Given the description of an element on the screen output the (x, y) to click on. 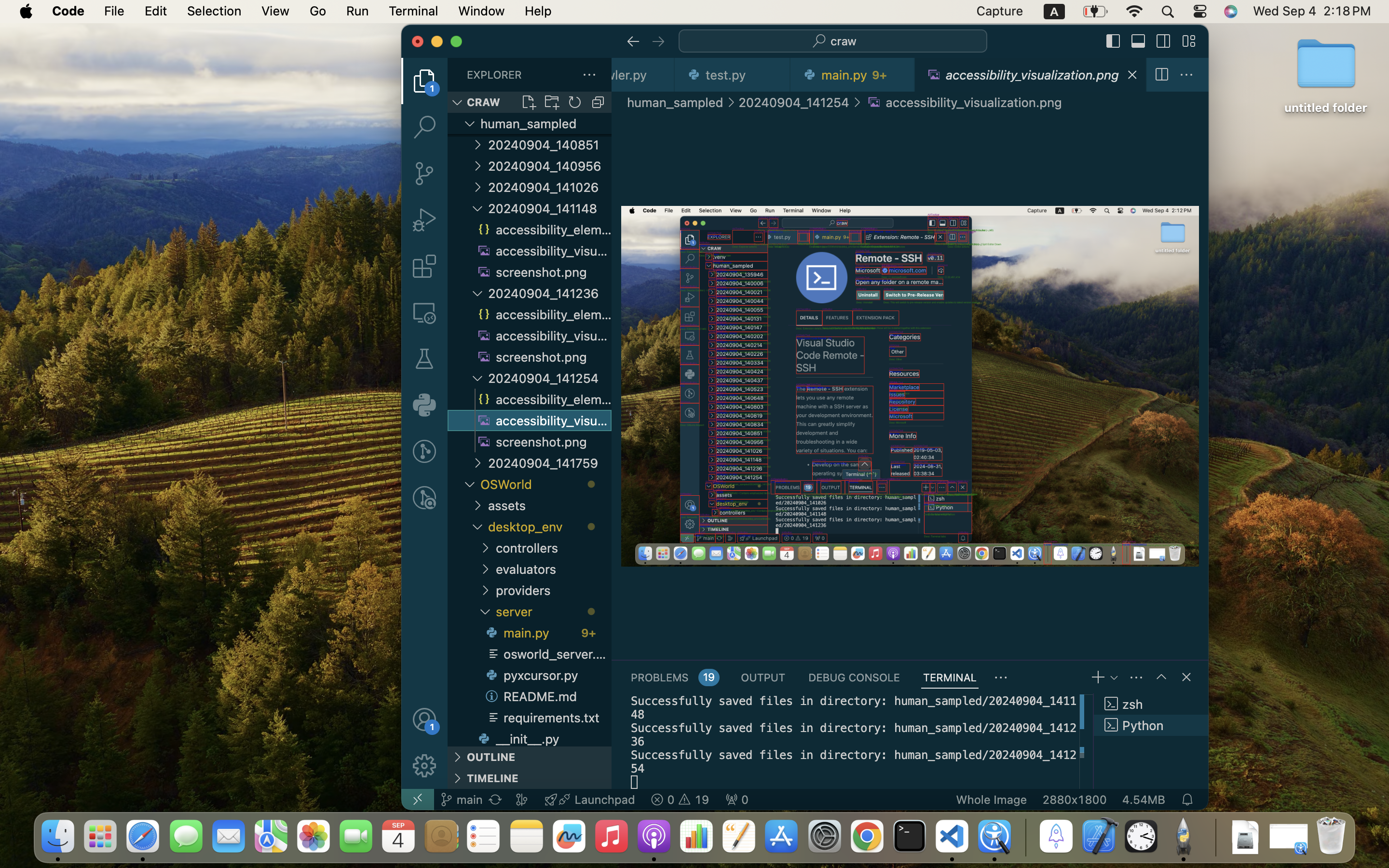
 Element type: AXGroup (424, 765)
20240904_140851 Element type: AXGroup (549, 144)
1 TERMINAL Element type: AXRadioButton (949, 676)
CRAW      Element type: AXButton (529, 101)
0 main.py   9+ Element type: AXRadioButton (852, 74)
